Given the description of an element on the screen output the (x, y) to click on. 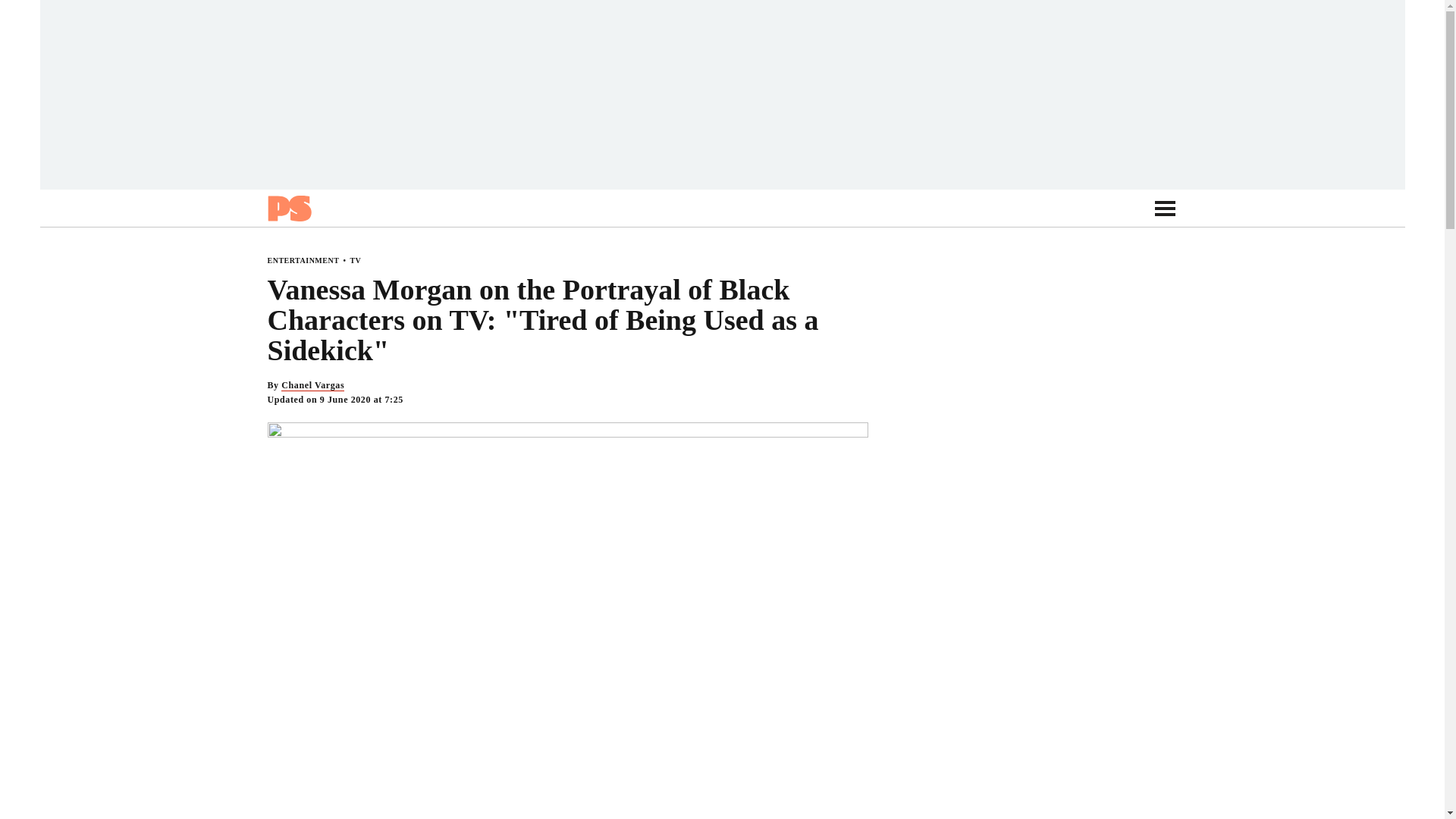
Chanel Vargas (312, 385)
Popsugar UK (288, 208)
Go to Navigation (1164, 207)
TV (355, 260)
ENTERTAINMENT (302, 260)
Go to Navigation (1164, 207)
